Given the description of an element on the screen output the (x, y) to click on. 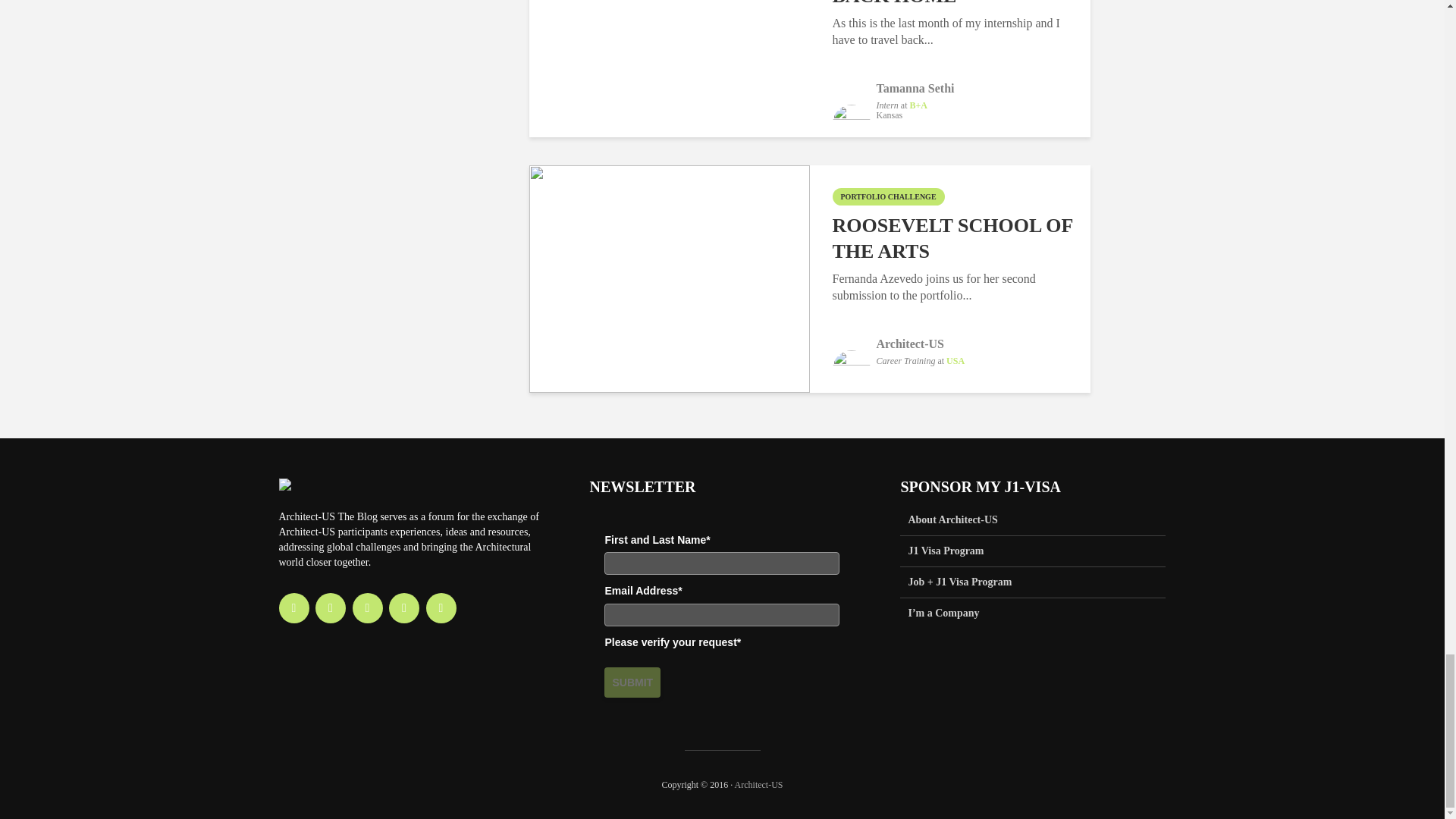
Mail (441, 607)
Facebook (293, 607)
Roosevelt School of the Arts (669, 277)
Linkedin (366, 607)
Instagram (330, 607)
YouTube (403, 607)
